Given the description of an element on the screen output the (x, y) to click on. 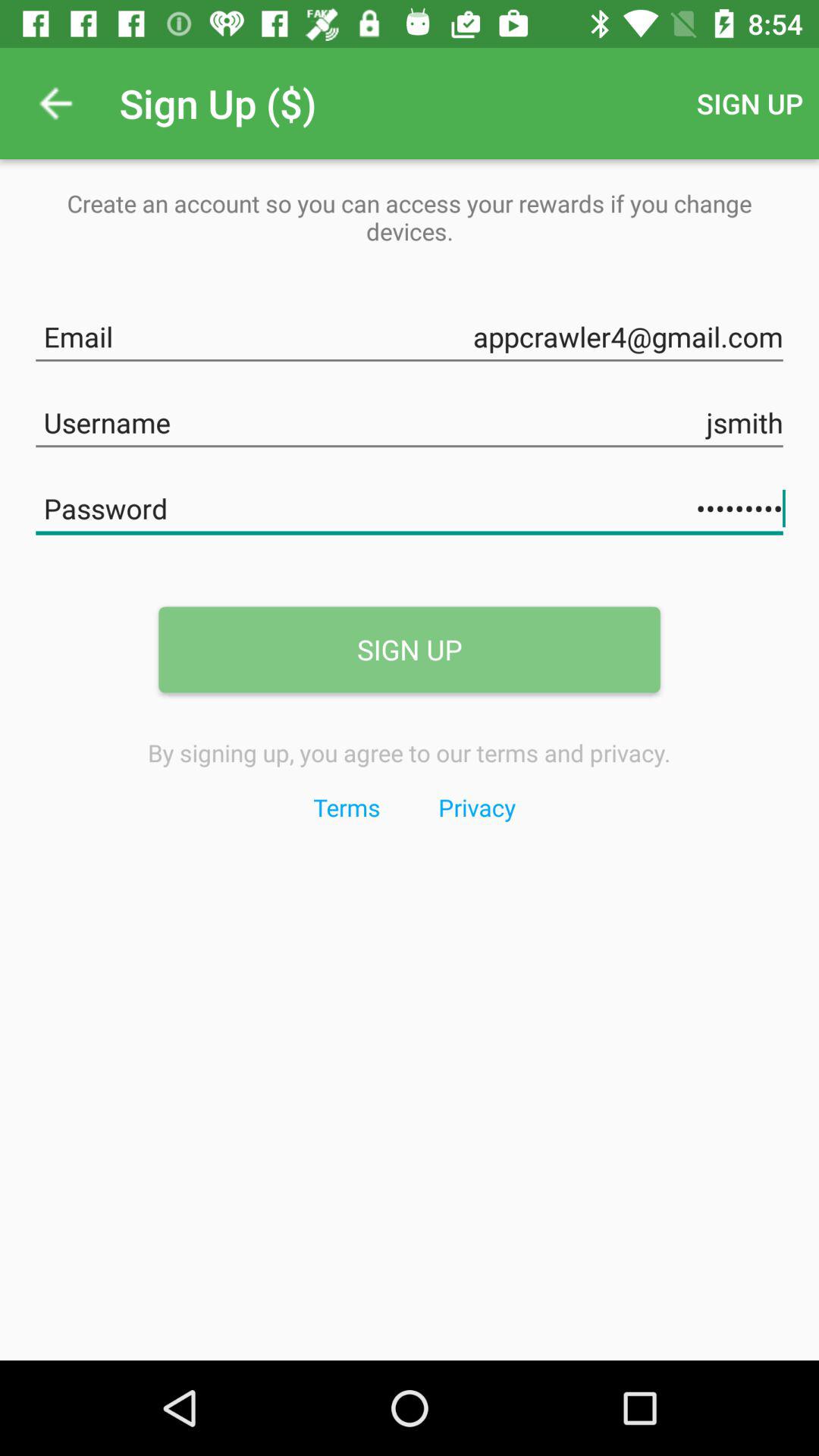
click the appcrawler4@gmail.com icon (409, 334)
